Given the description of an element on the screen output the (x, y) to click on. 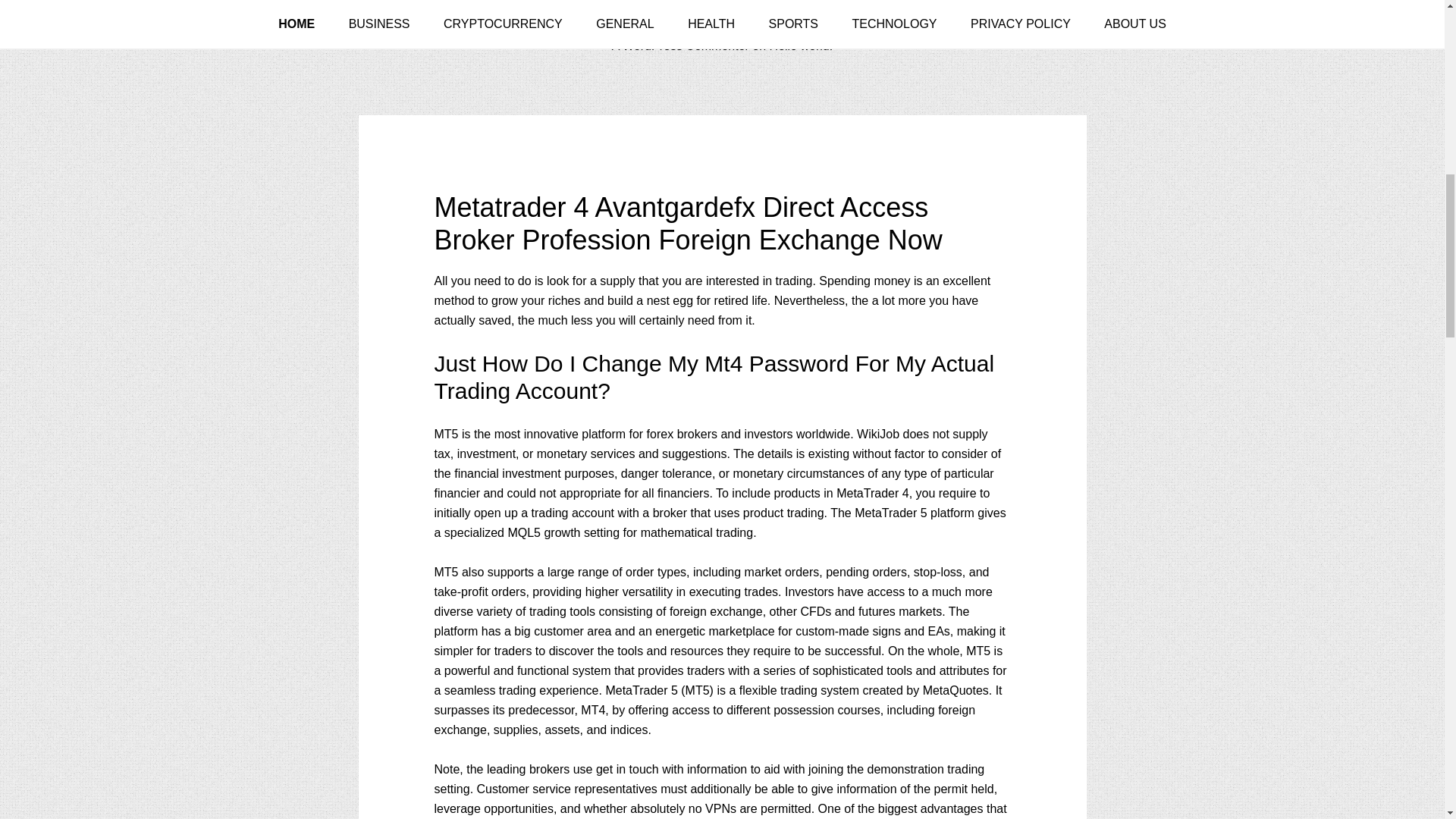
Hello world! (801, 45)
forex (660, 433)
A WordPress Commenter (680, 45)
